Given the description of an element on the screen output the (x, y) to click on. 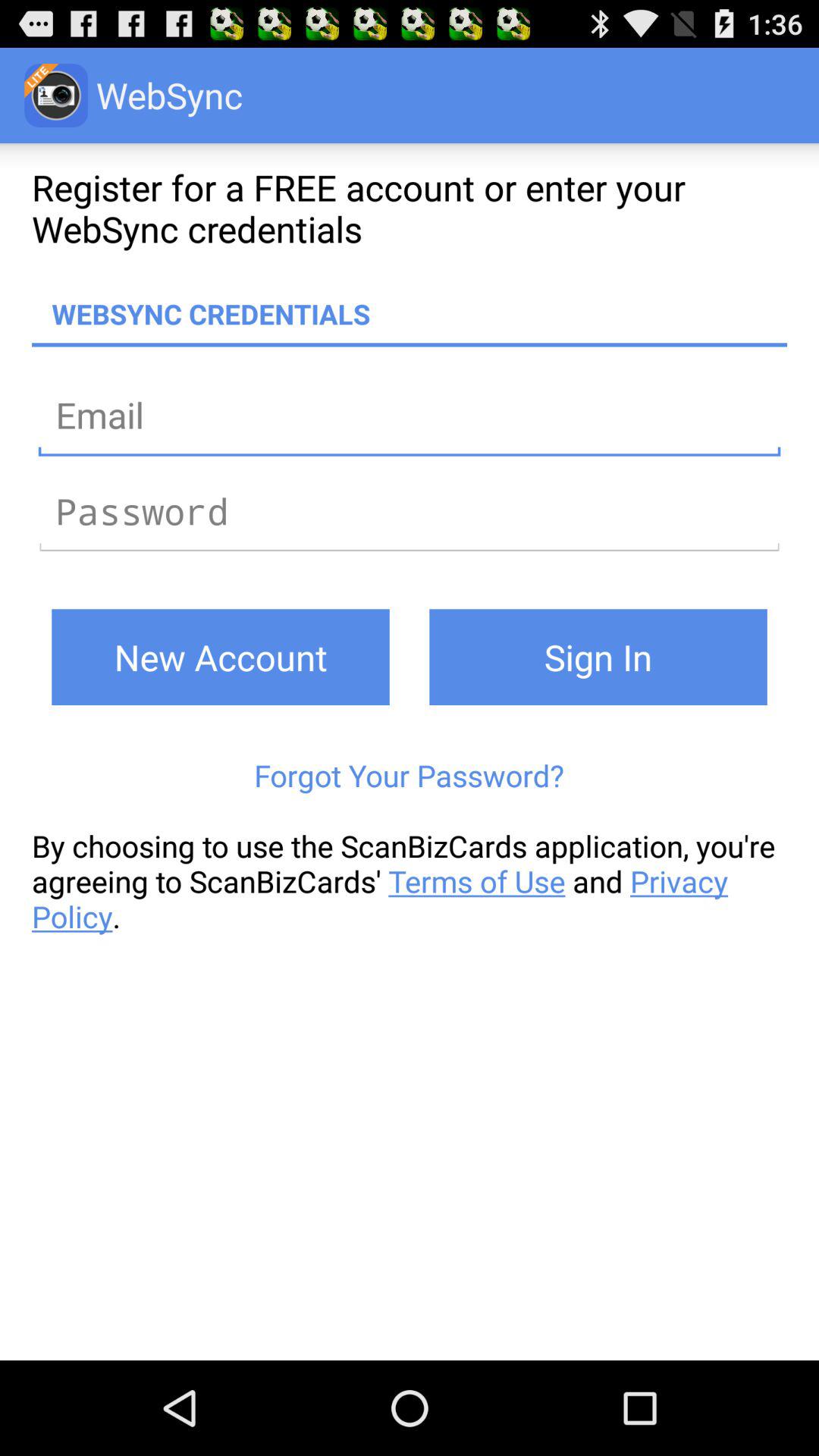
enter email (409, 414)
